Given the description of an element on the screen output the (x, y) to click on. 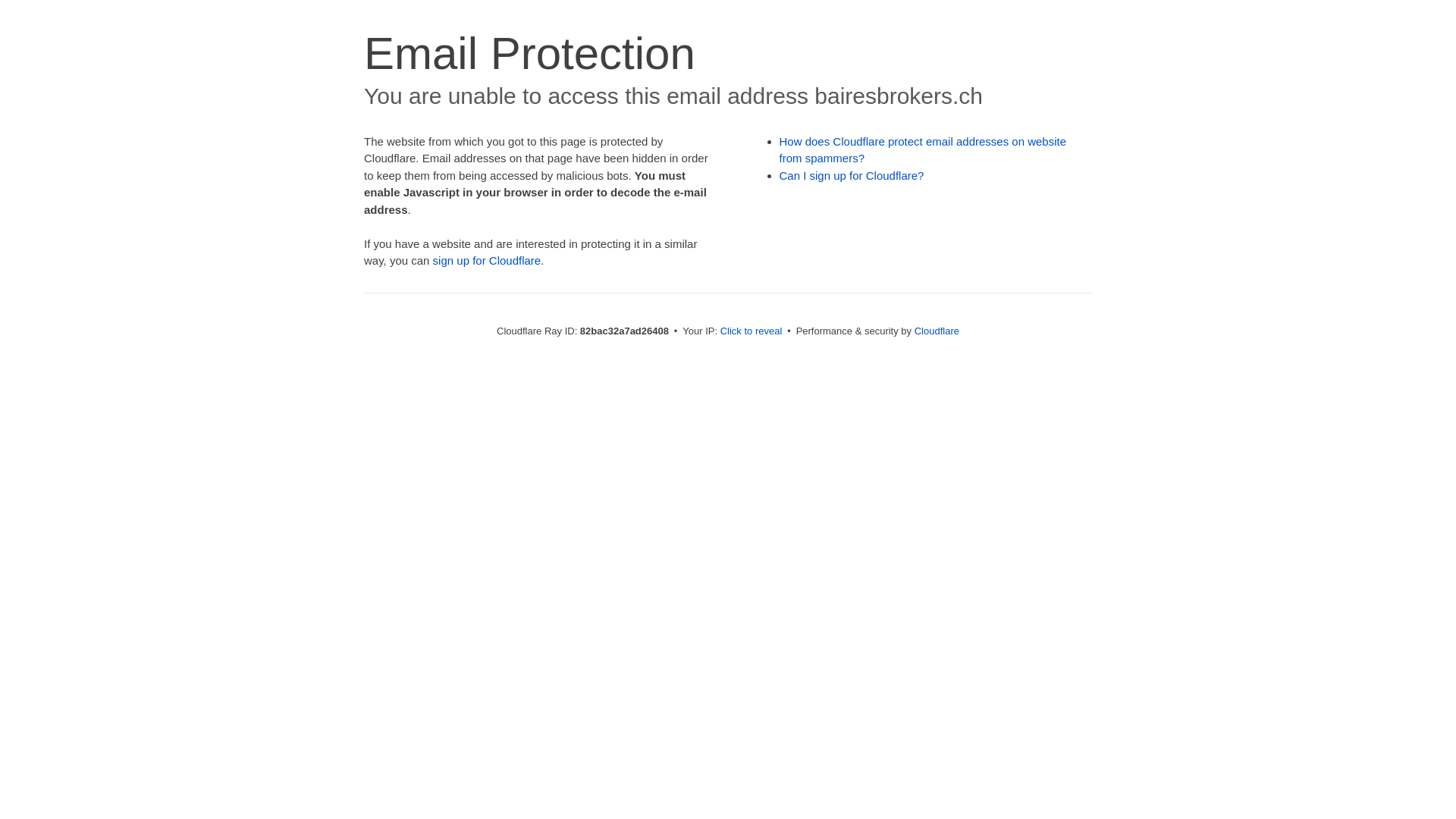
Click to reveal Element type: text (751, 330)
Can I sign up for Cloudflare? Element type: text (851, 175)
Cloudflare Element type: text (936, 330)
sign up for Cloudflare Element type: text (487, 260)
